Given the description of an element on the screen output the (x, y) to click on. 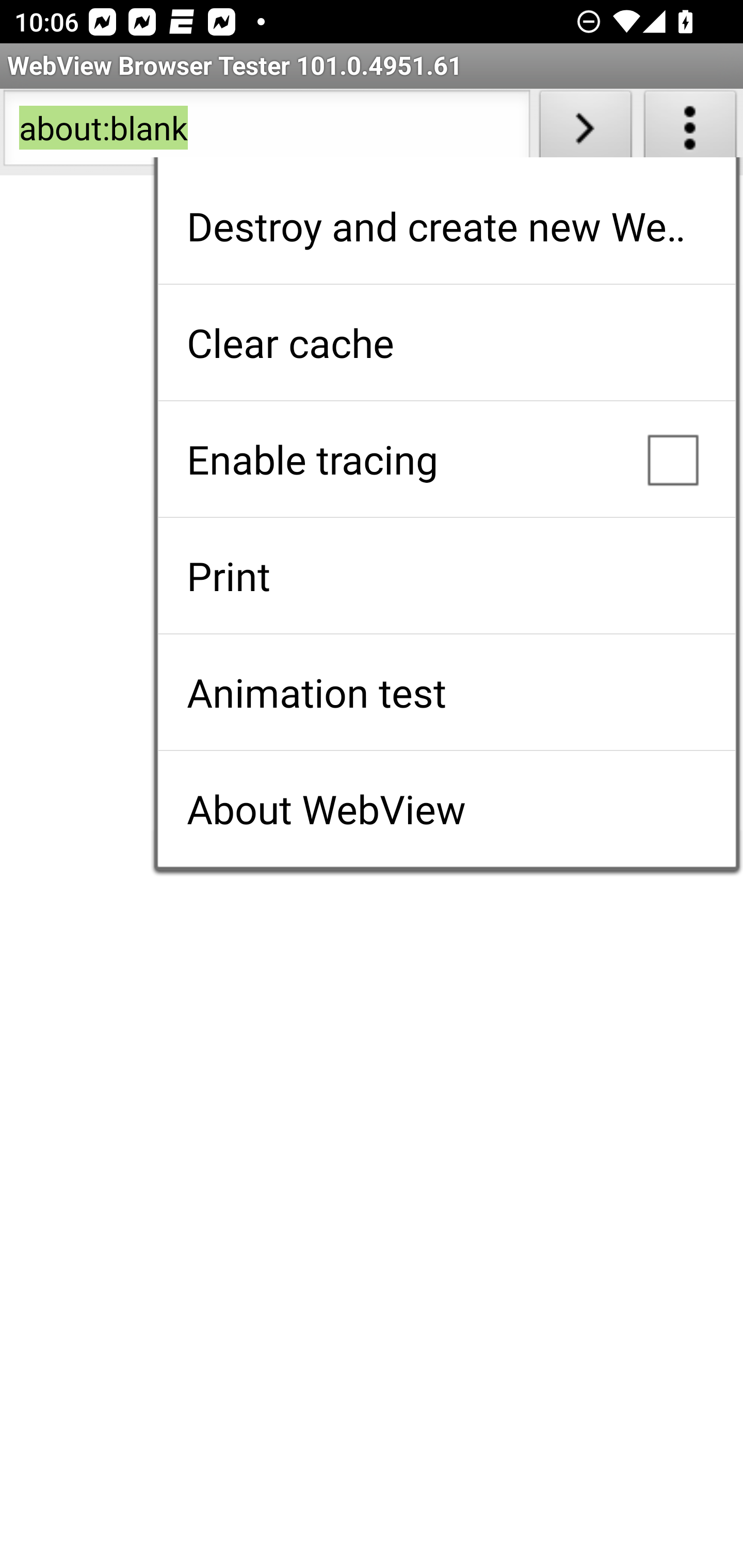
Destroy and create new WebView (446, 225)
Clear cache (446, 342)
Enable tracing (446, 459)
Print (446, 575)
Animation test (446, 692)
About WebView (446, 809)
